Given the description of an element on the screen output the (x, y) to click on. 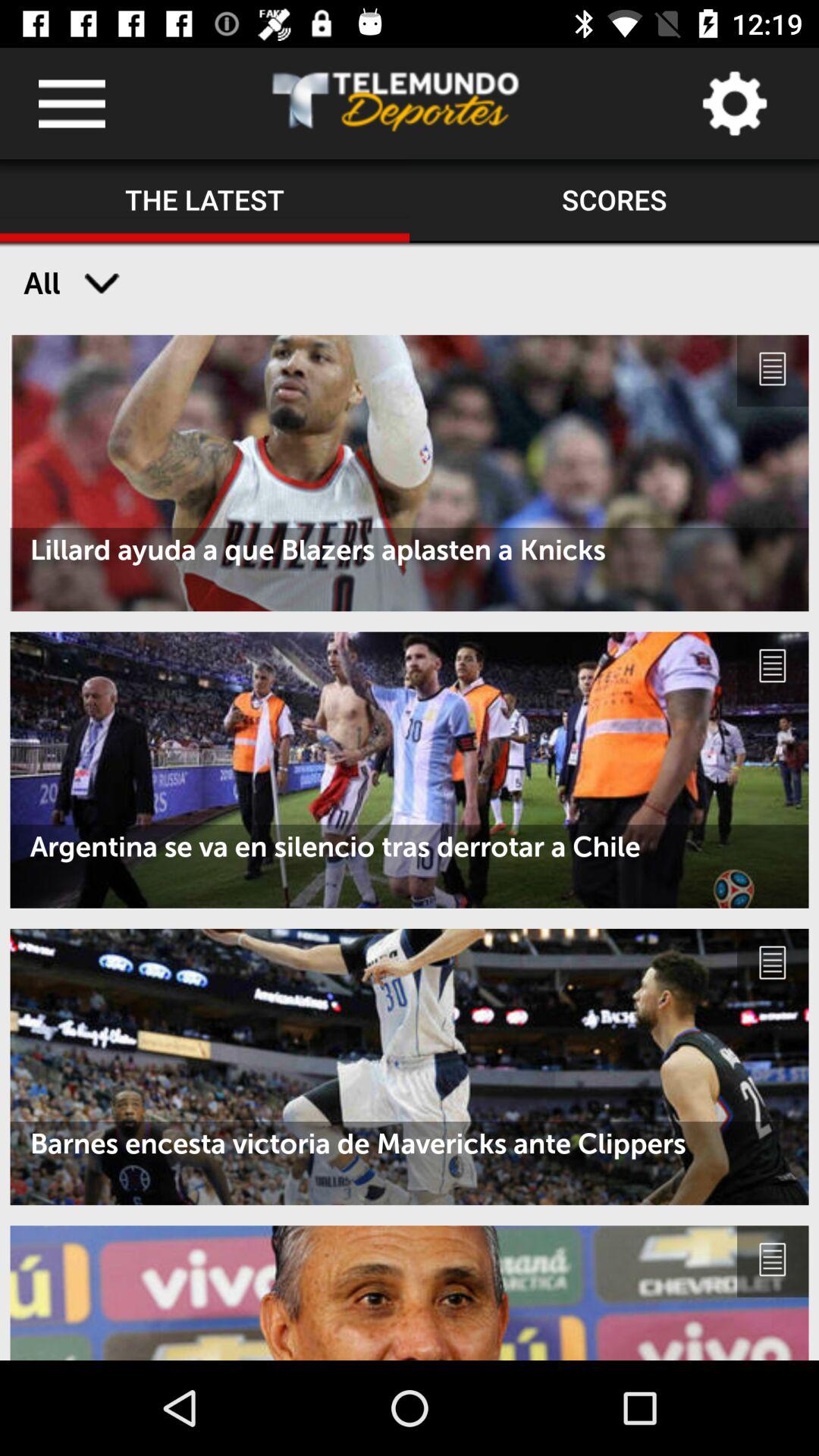
open the menu (71, 103)
